Given the description of an element on the screen output the (x, y) to click on. 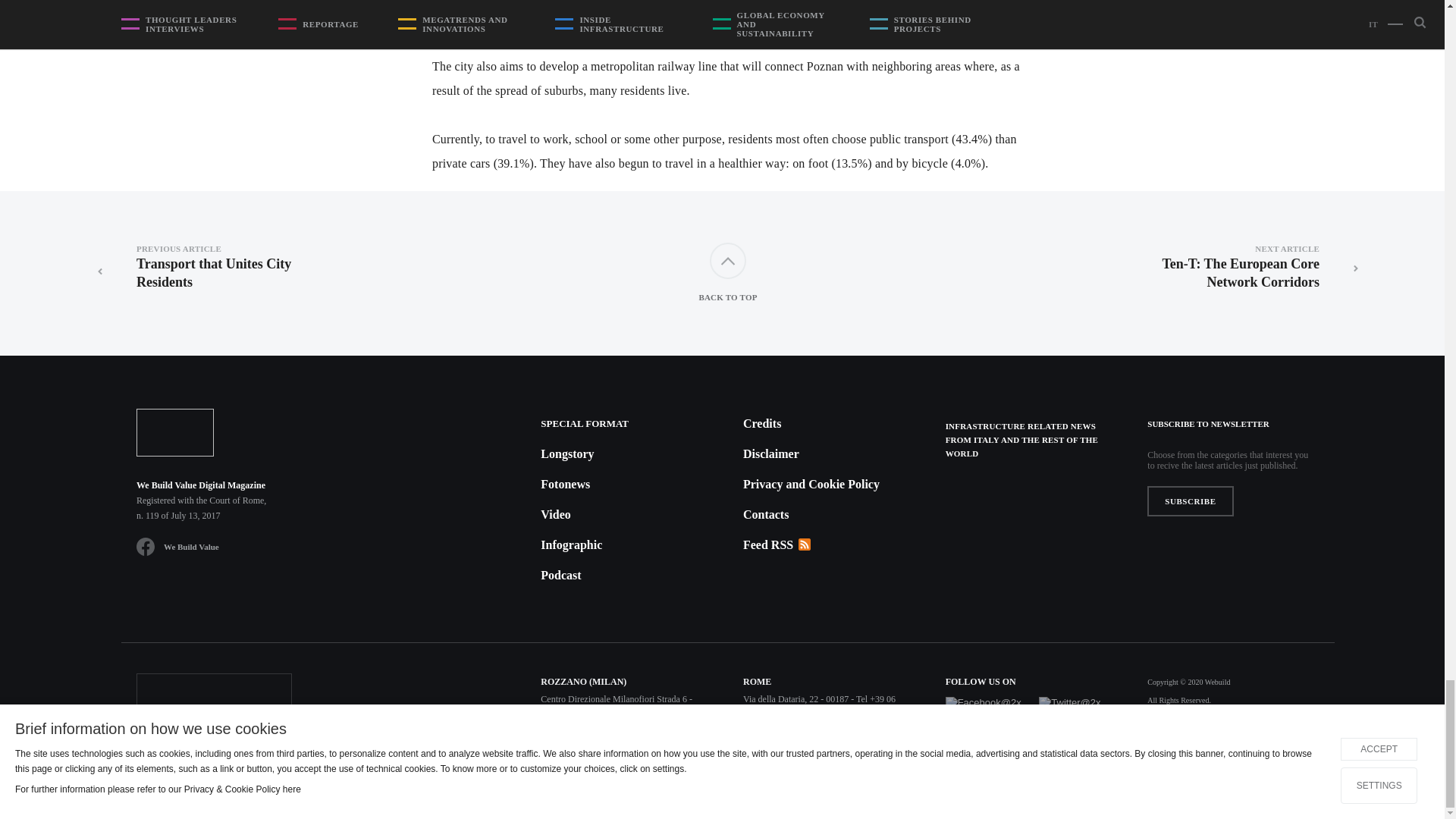
BACK TO TOP (727, 272)
